Given the description of an element on the screen output the (x, y) to click on. 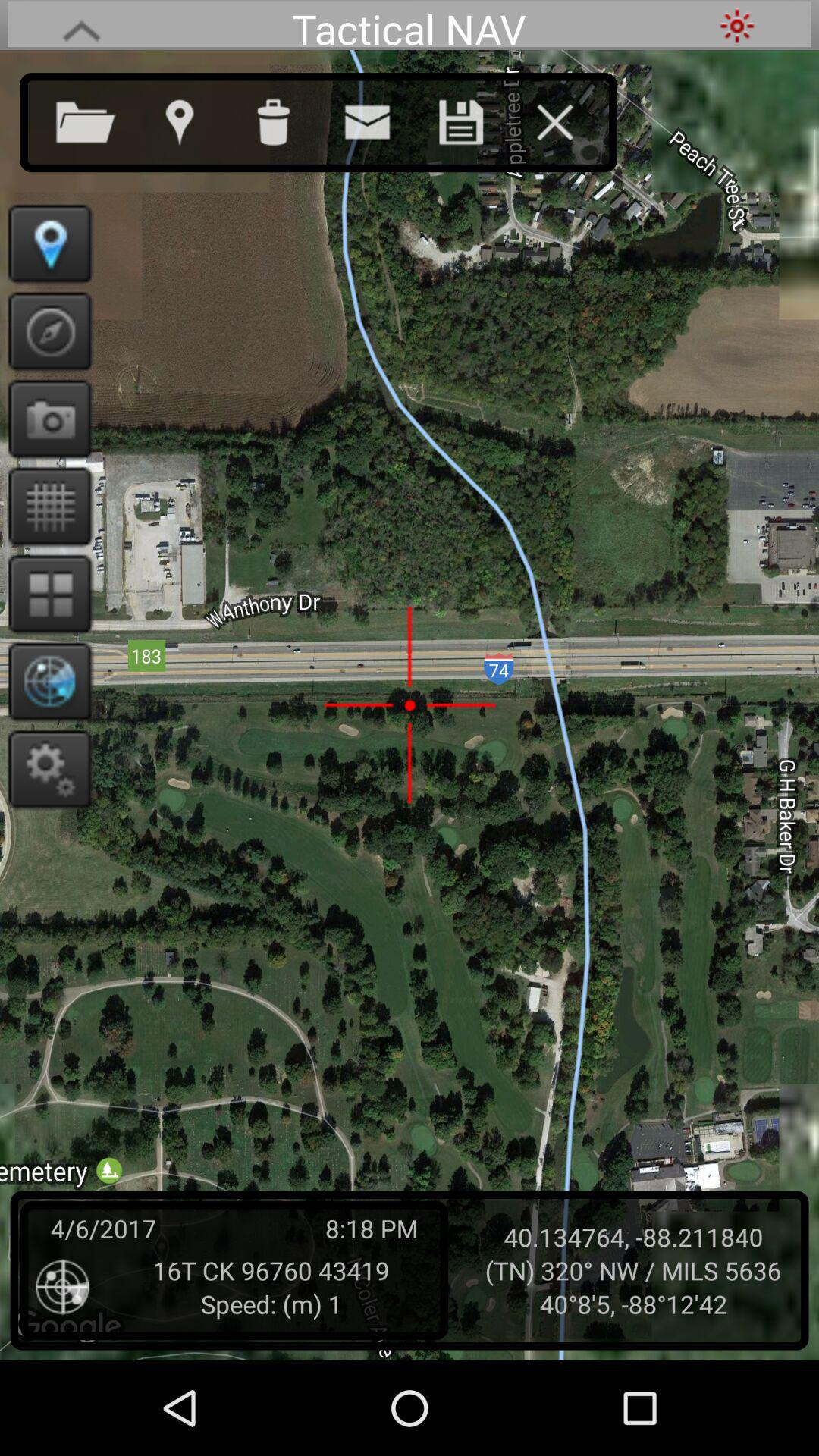
exit navigation (570, 119)
